Given the description of an element on the screen output the (x, y) to click on. 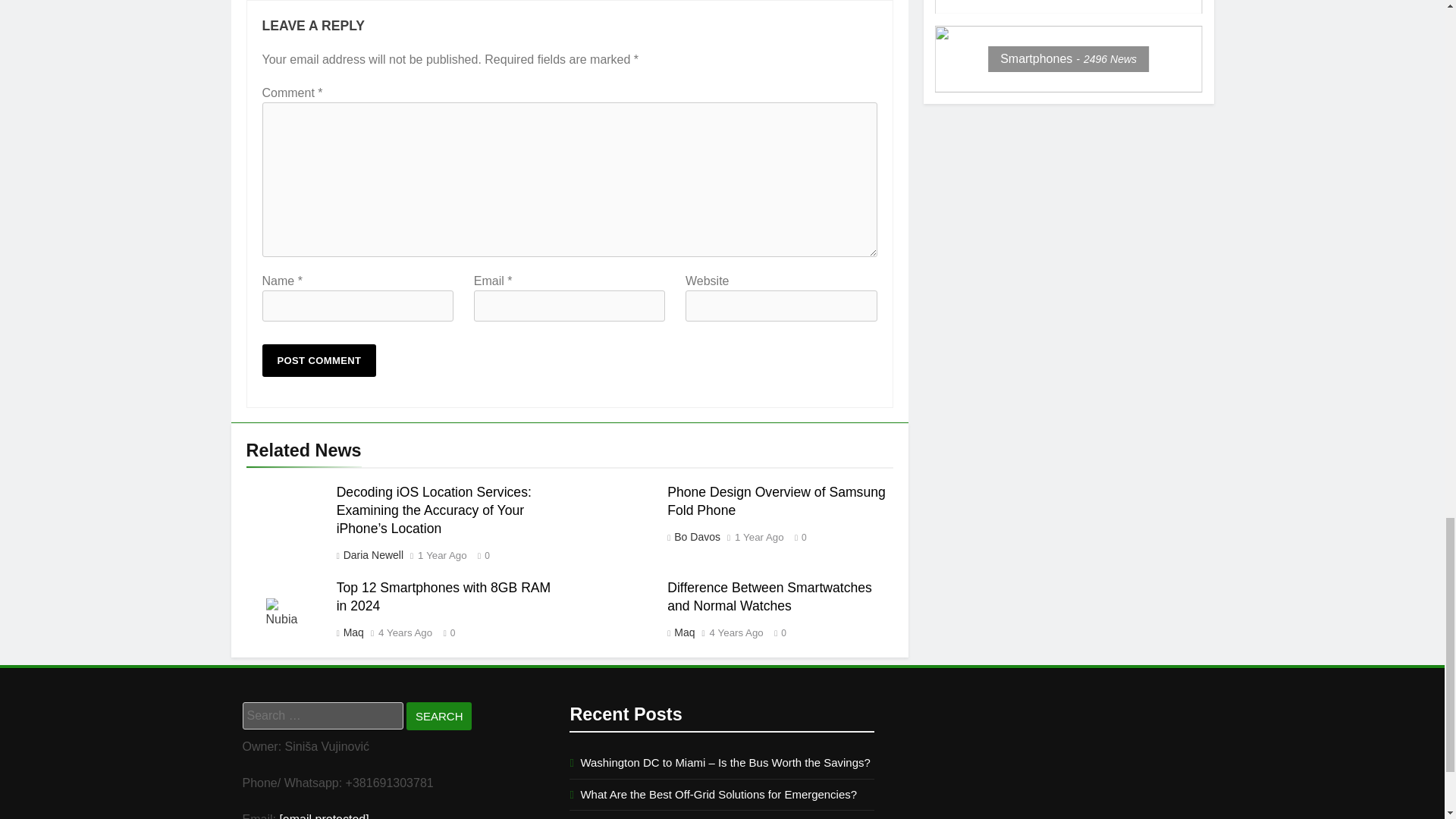
Search (438, 715)
Post Comment (319, 359)
Search (438, 715)
